Given the description of an element on the screen output the (x, y) to click on. 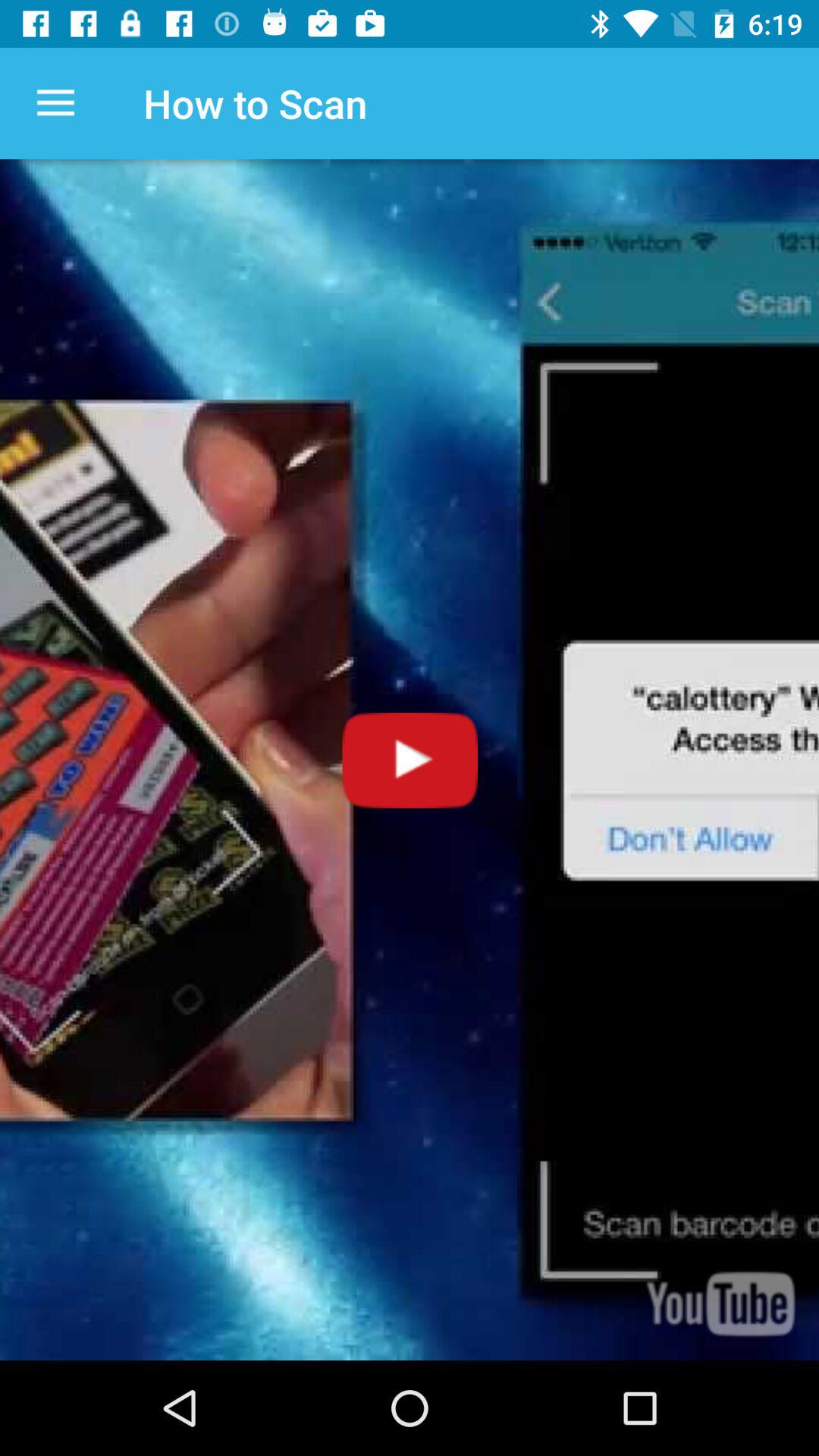
advertisement page (409, 759)
